Given the description of an element on the screen output the (x, y) to click on. 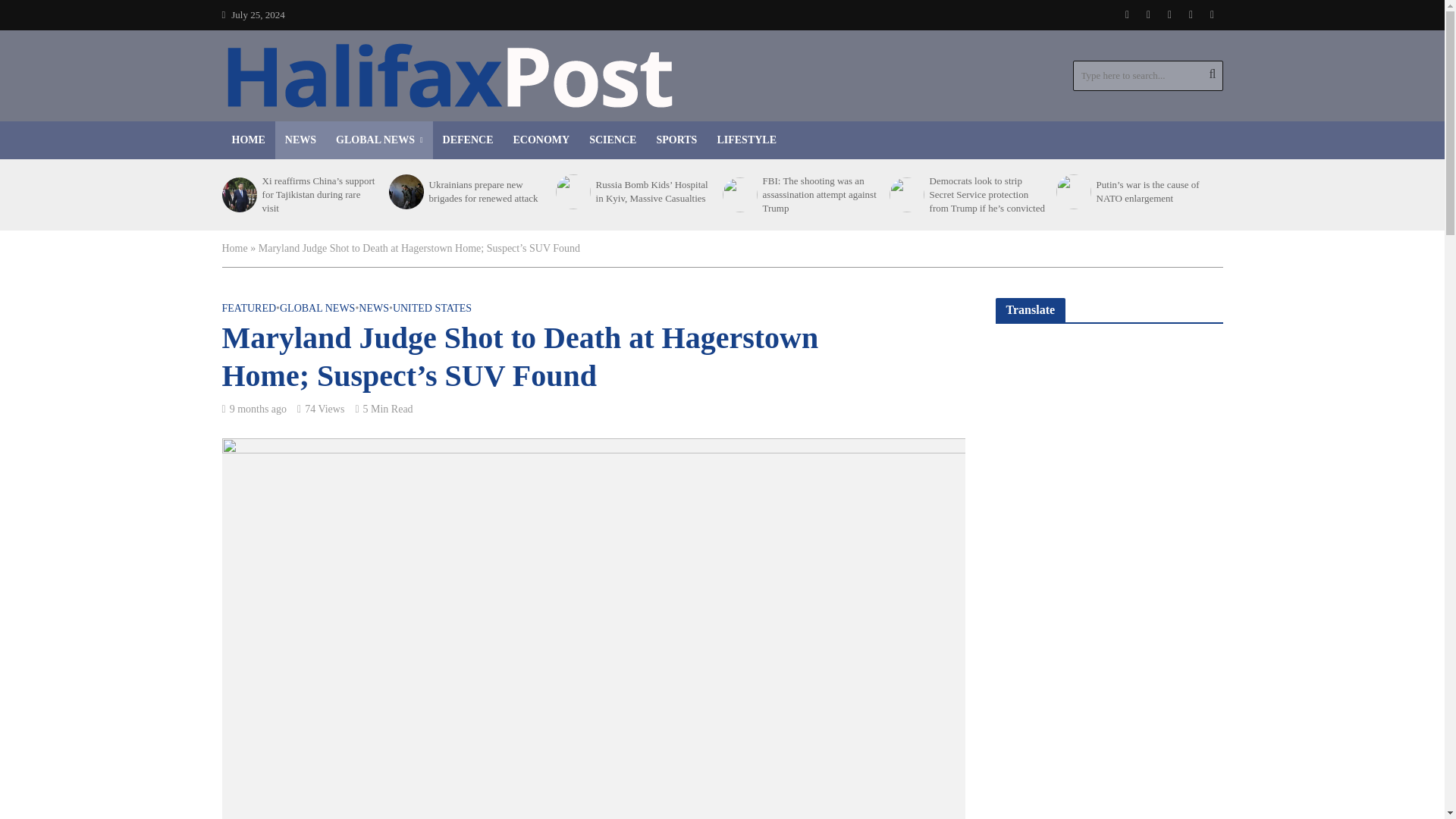
SPORTS (676, 139)
GLOBAL NEWS (379, 139)
ECONOMY (541, 139)
NEWS (300, 139)
SCIENCE (612, 139)
FBI: The shooting was an assassination attempt against Trump (738, 194)
Ukrainians prepare new brigades for renewed attack (404, 191)
DEFENCE (467, 139)
HOME (248, 139)
